Given the description of an element on the screen output the (x, y) to click on. 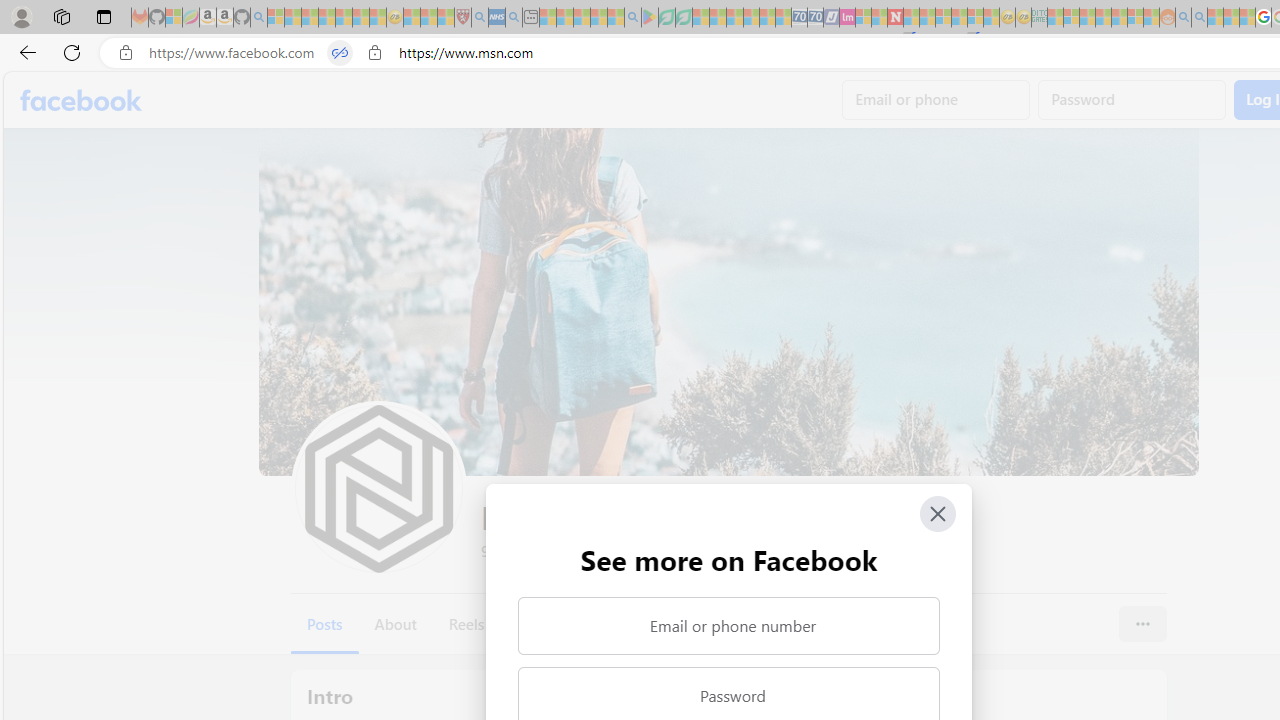
Facebook (81, 99)
utah sues federal government - Search - Sleeping (513, 17)
Email or phone number (728, 625)
Latest Politics News & Archive | Newsweek.com - Sleeping (895, 17)
Cheap Hotels - Save70.com - Sleeping (815, 17)
NCL Adult Asthma Inhaler Choice Guideline - Sleeping (497, 17)
